Given the description of an element on the screen output the (x, y) to click on. 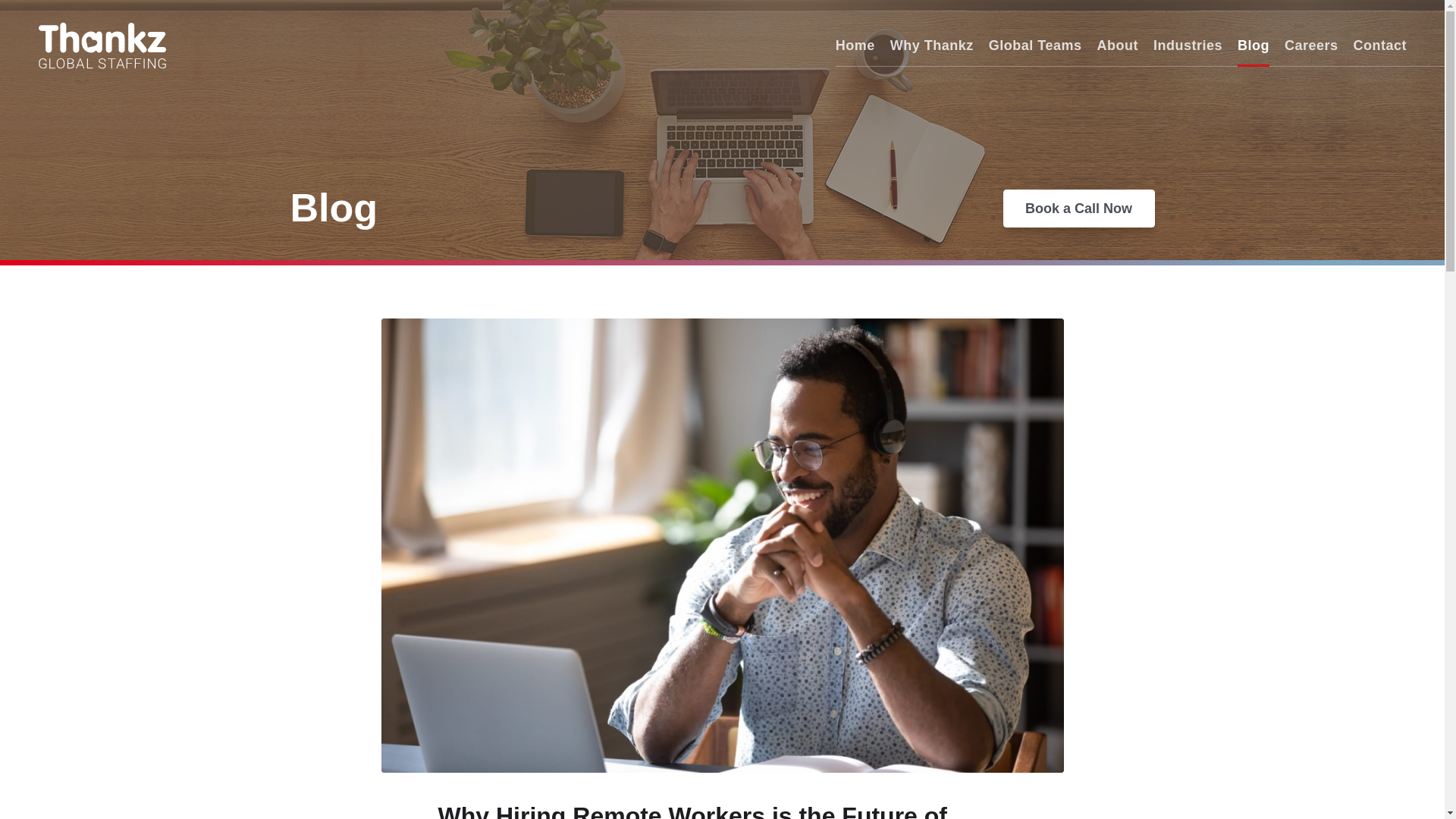
Careers (1311, 45)
Book a Call Now (1078, 208)
Home (855, 45)
Industries (1188, 45)
Global Teams (1034, 45)
Why Thankz (931, 45)
Contact (1379, 45)
About (1116, 45)
